Given the description of an element on the screen output the (x, y) to click on. 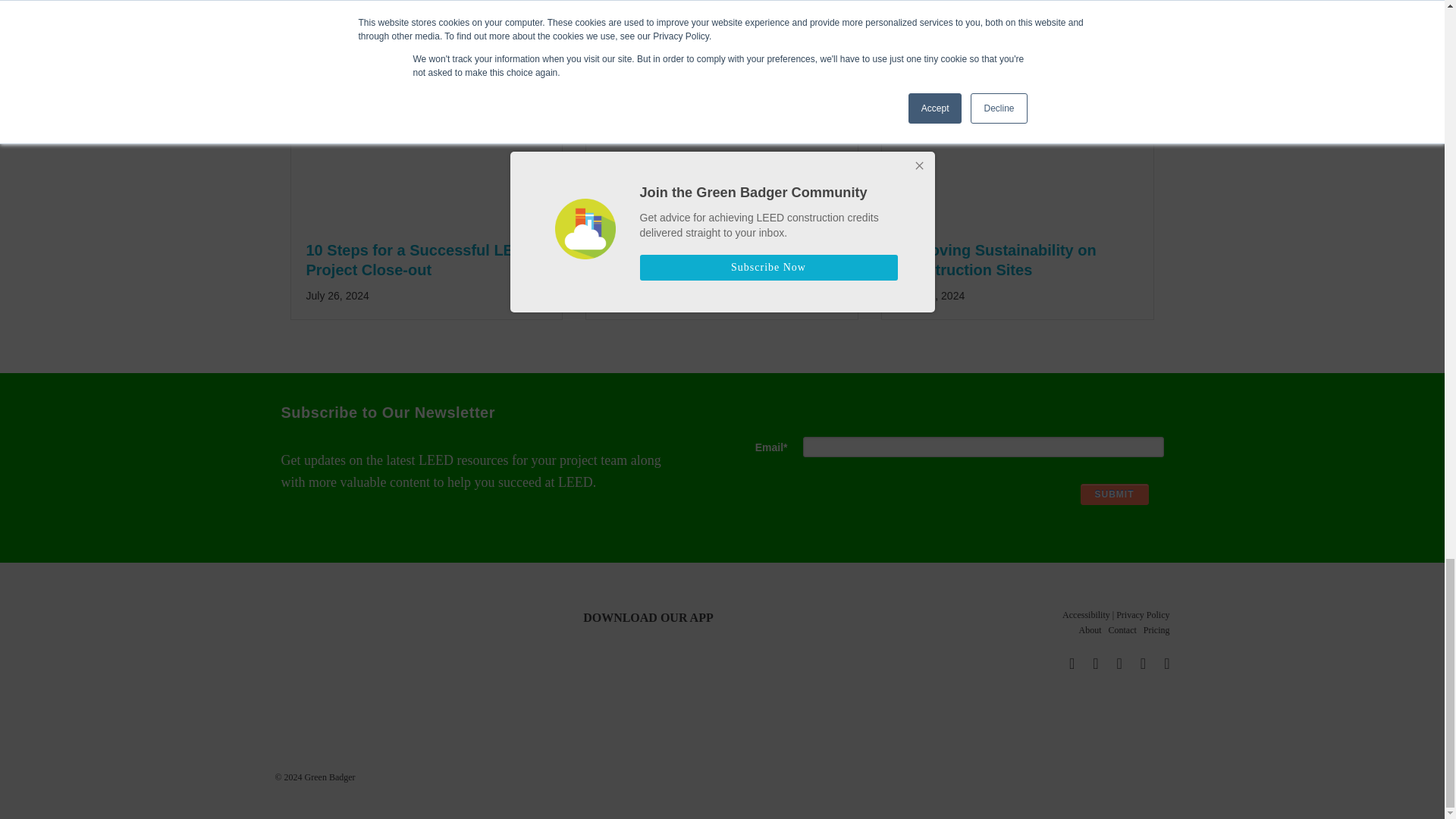
10 Steps for a Successful LEED Project Close-out (426, 214)
Improving Sustainability on Construction Sites (1017, 214)
10 Steps for a Successful LEED Project Close-out (419, 259)
Submit (1114, 494)
Improving Sustainability on Construction Sites (996, 259)
Setting SMART Goals For ESG Implementation (721, 214)
Setting SMART Goals For ESG Implementation (711, 259)
